Given the description of an element on the screen output the (x, y) to click on. 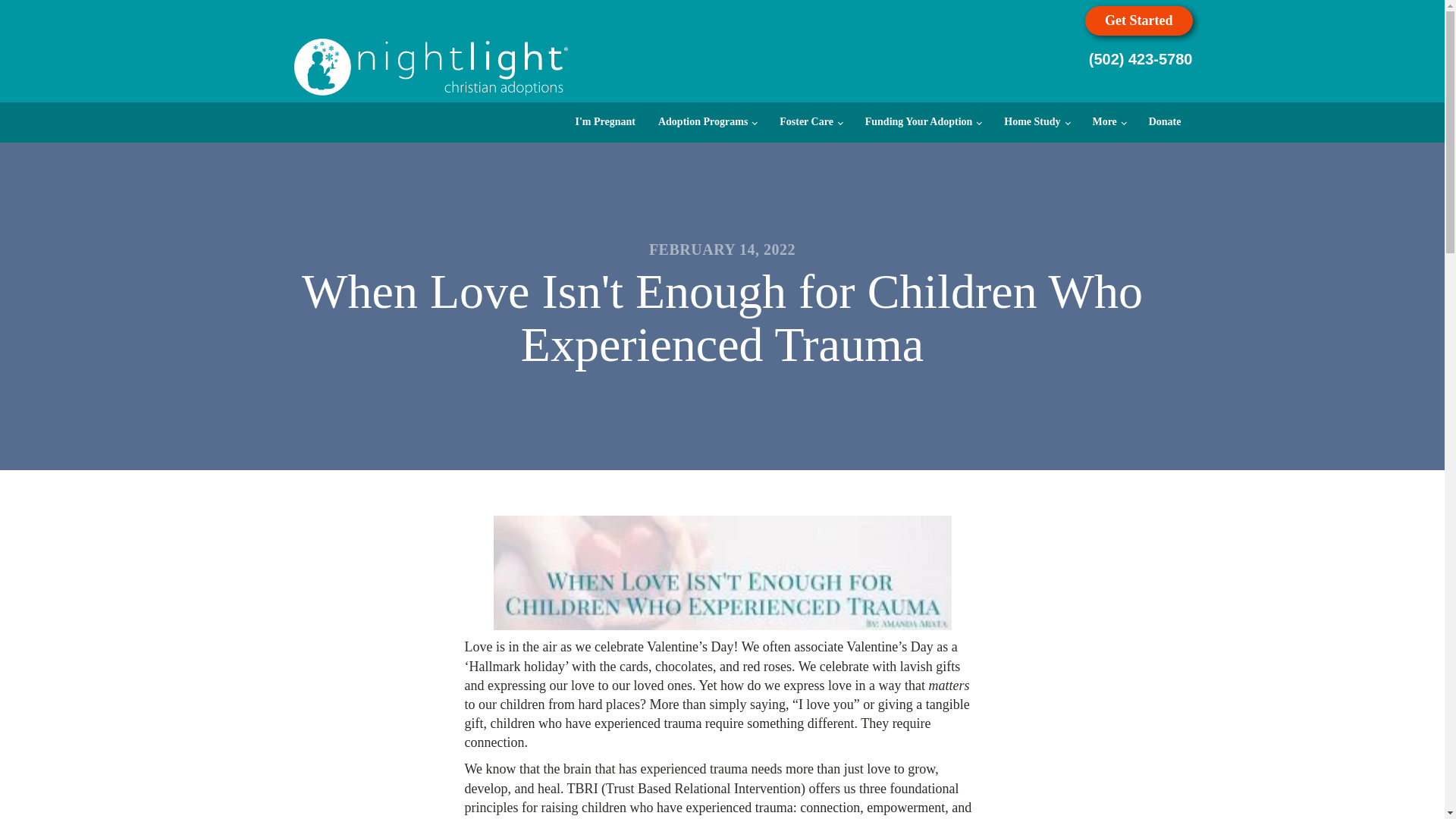
Search (24, 14)
Get Started (1138, 20)
Adoption Programs (707, 121)
I'm Pregnant (605, 121)
